Given the description of an element on the screen output the (x, y) to click on. 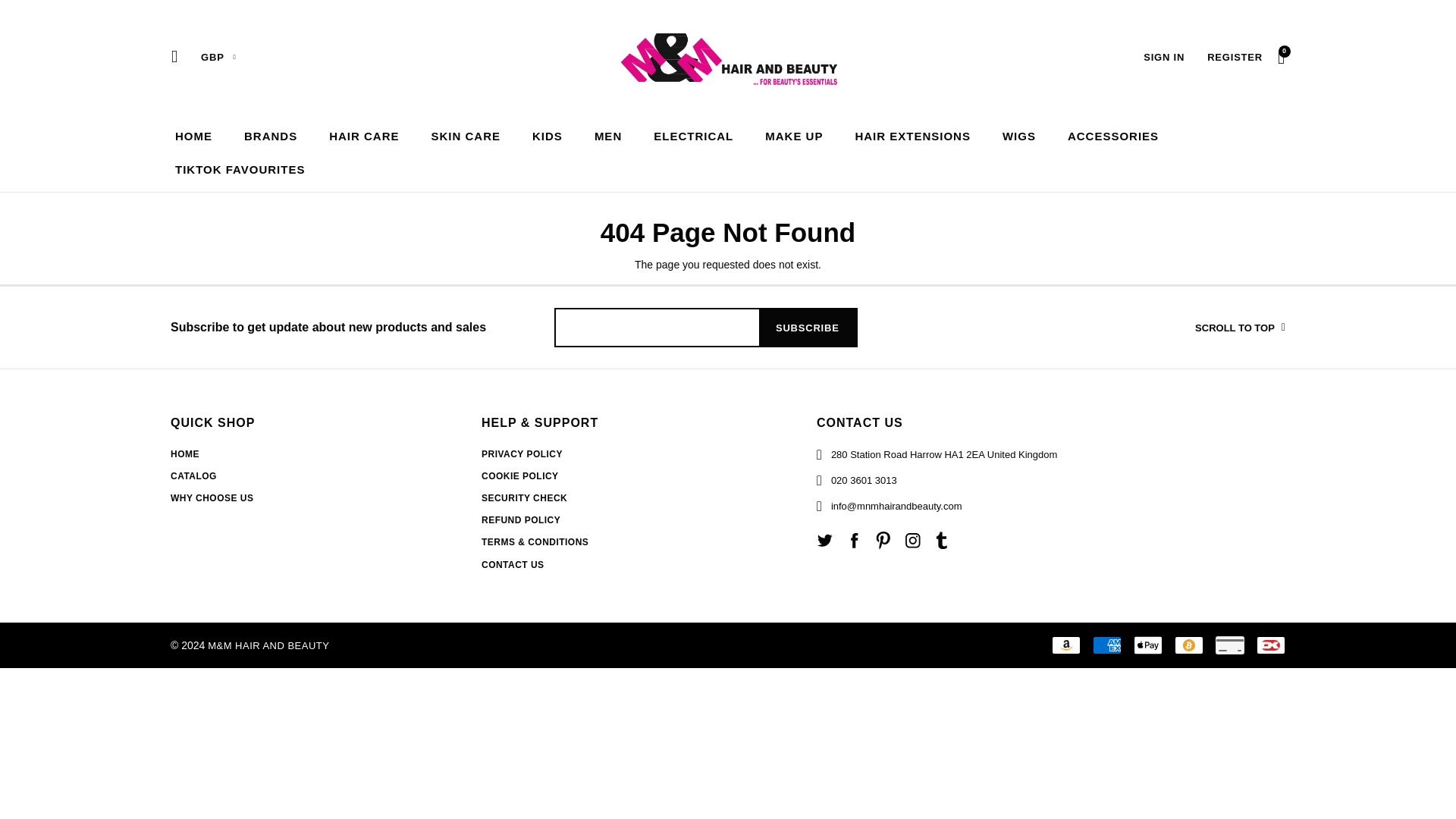
SCROLL TO TOP (1192, 327)
REGISTER (1234, 56)
HOME (193, 135)
SIGN IN (1163, 56)
BRANDS (269, 135)
